Given the description of an element on the screen output the (x, y) to click on. 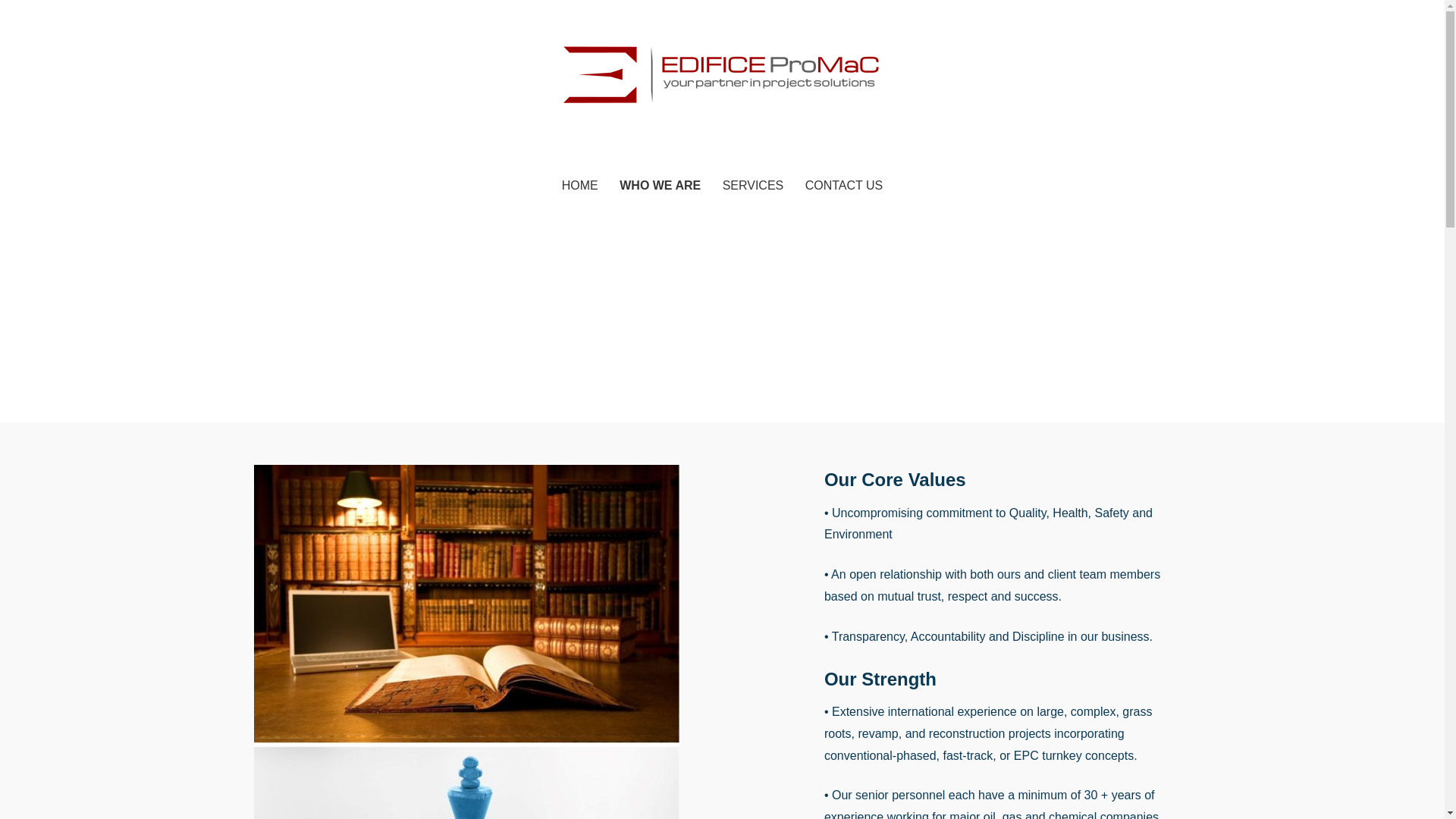
CONTACT US (844, 186)
SERVICES (753, 186)
WHO WE ARE (660, 186)
HOME (580, 186)
